Given the description of an element on the screen output the (x, y) to click on. 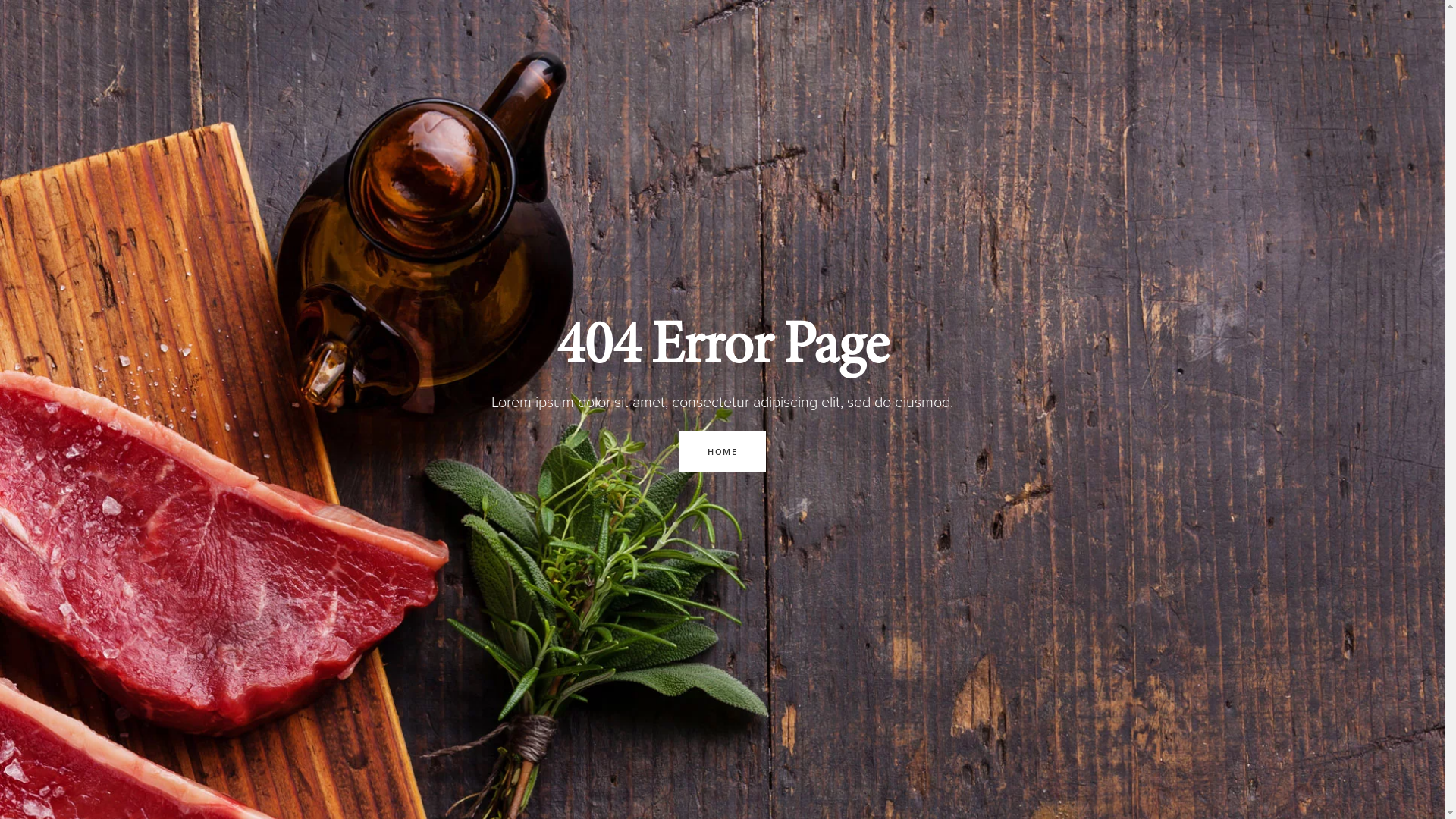
HOME Element type: text (721, 450)
